Given the description of an element on the screen output the (x, y) to click on. 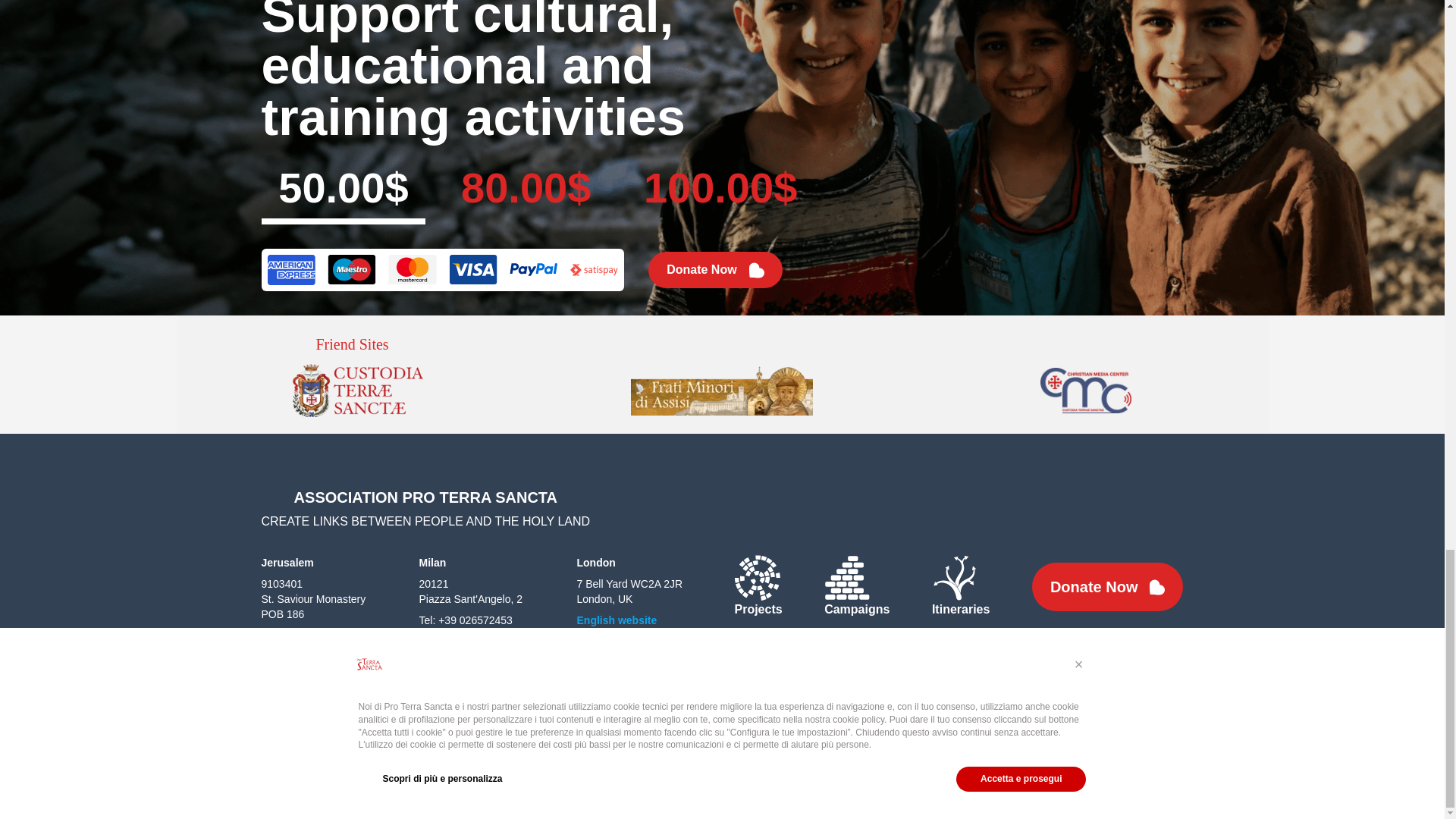
Pro Terra Sancta UK (616, 620)
